Given the description of an element on the screen output the (x, y) to click on. 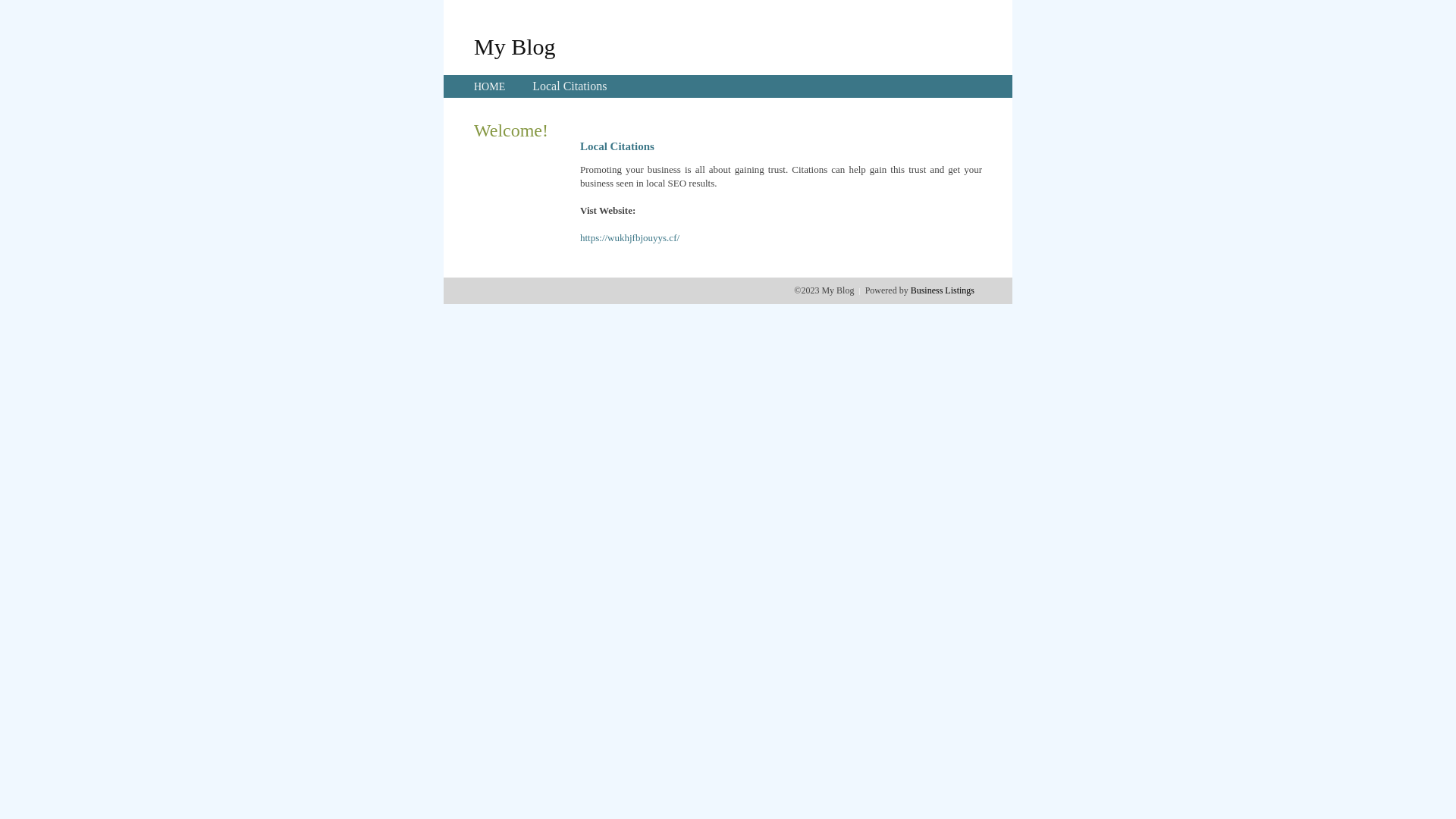
Local Citations Element type: text (569, 85)
https://wukhjfbjouyys.cf/ Element type: text (629, 237)
My Blog Element type: text (514, 46)
Business Listings Element type: text (942, 290)
HOME Element type: text (489, 86)
